Given the description of an element on the screen output the (x, y) to click on. 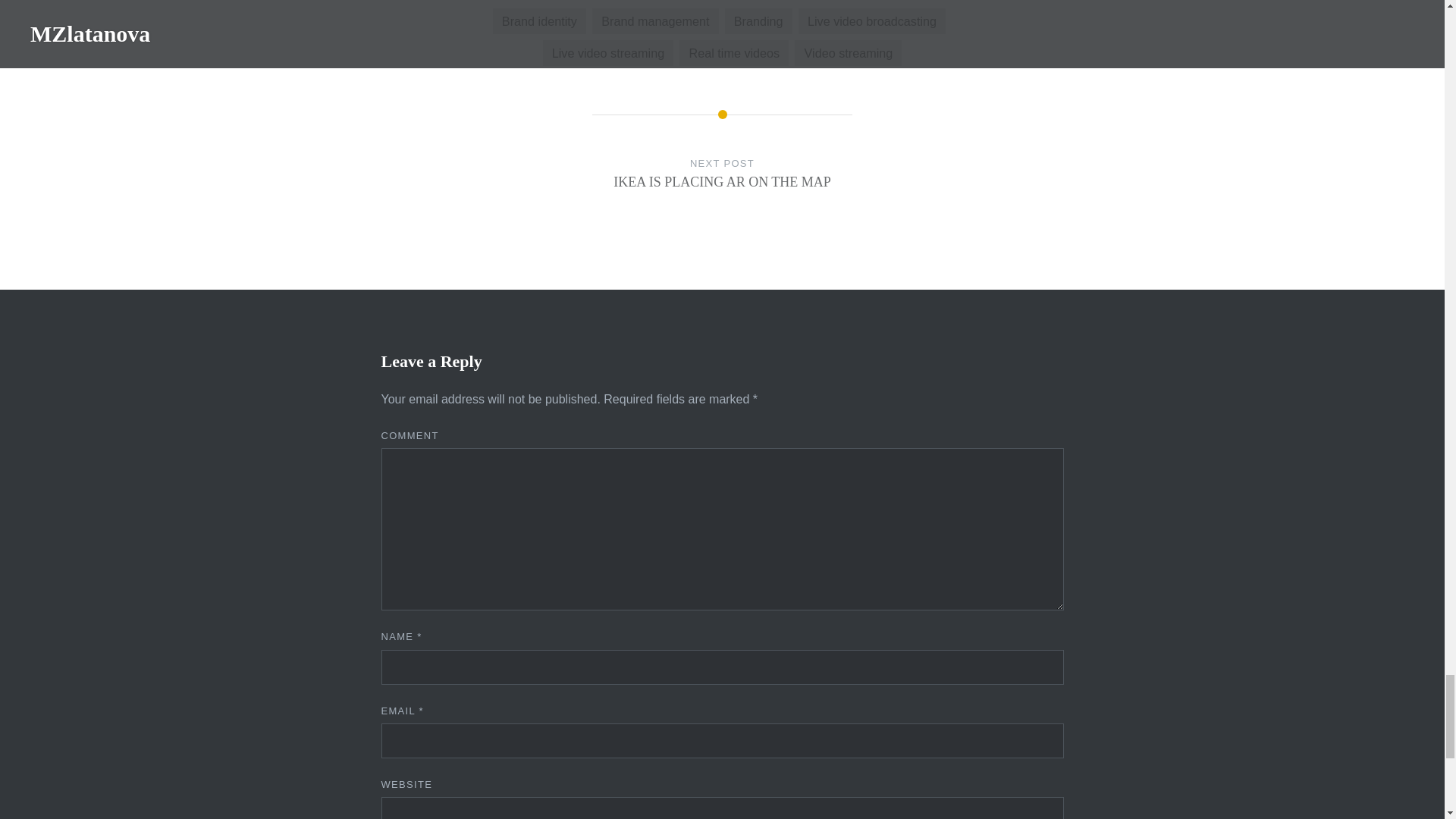
Brand management (654, 21)
Real time videos (734, 53)
Live video broadcasting (870, 21)
Live video streaming (608, 53)
Brand identity (539, 21)
Video streaming (847, 53)
Branding (758, 21)
